Given the description of an element on the screen output the (x, y) to click on. 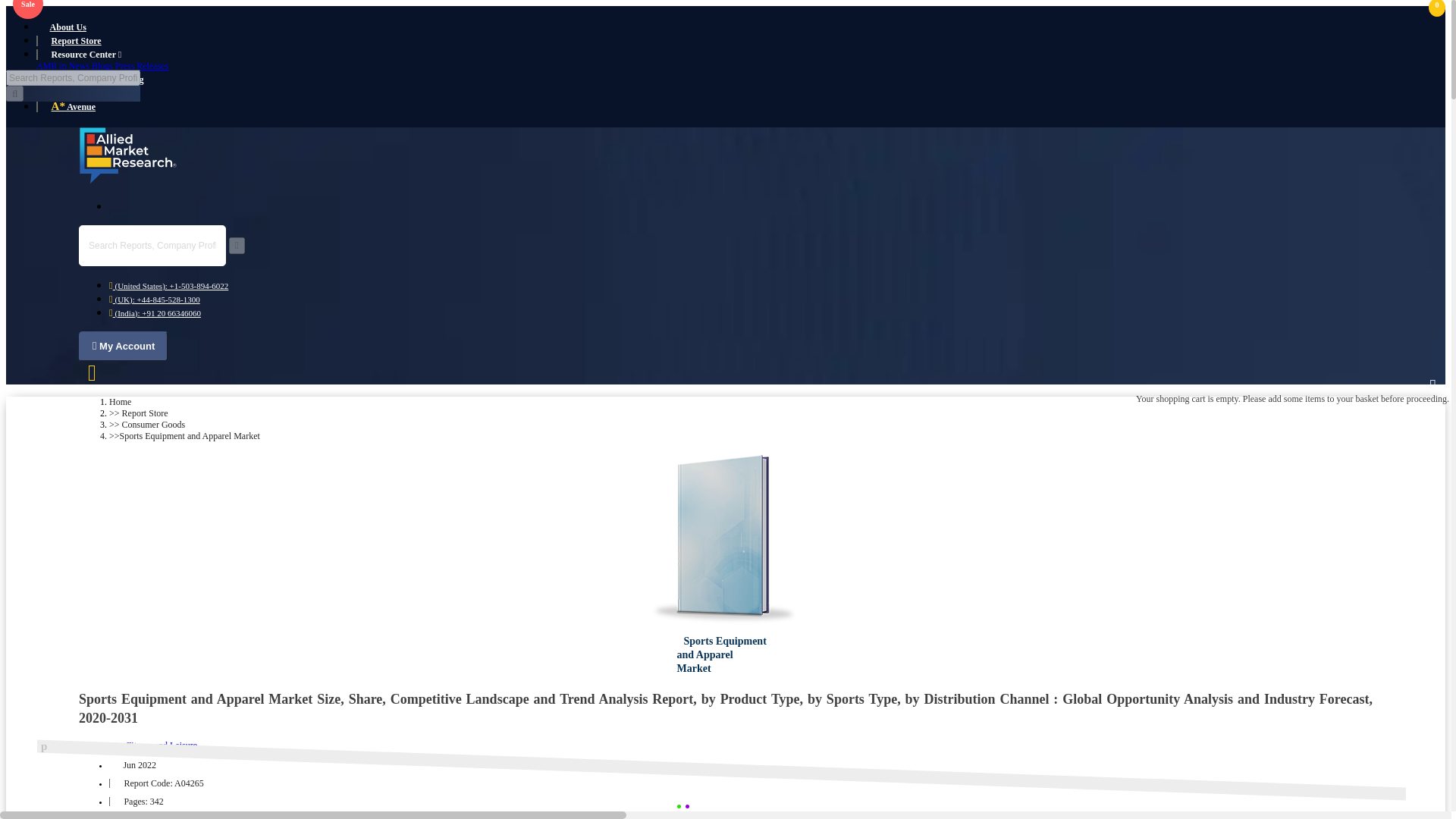
About Us (68, 27)
Our Clients (73, 92)
CG : Sports, Fitness and Leisure (137, 745)
Request For Consulting (96, 79)
Report Store (145, 412)
Sports Equipment and Apparel Market (725, 539)
Home (120, 401)
Press Releases (141, 65)
Report Store (75, 40)
AMR in News (62, 65)
Blogs (102, 65)
Consumer Goods (154, 424)
Resource Center (85, 54)
My Account (123, 346)
Allied Market Research (127, 155)
